Given the description of an element on the screen output the (x, y) to click on. 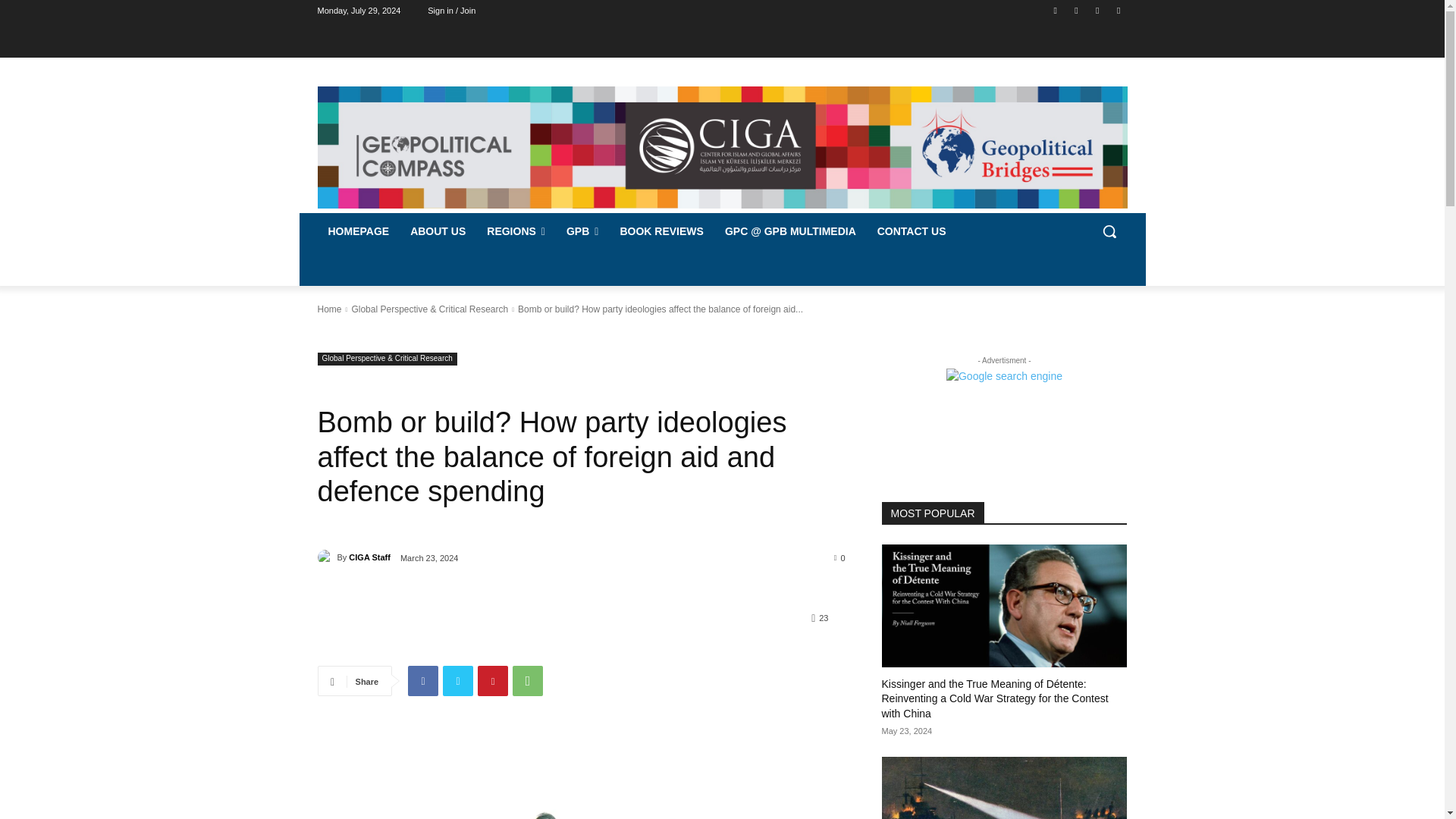
Youtube (1117, 9)
Facebook (1055, 9)
Instagram (1075, 9)
Twitter (1097, 9)
Twitter (457, 680)
Facebook (422, 680)
ABOUT US (437, 230)
HOMEPAGE (357, 230)
CIGA Staff (326, 557)
